Given the description of an element on the screen output the (x, y) to click on. 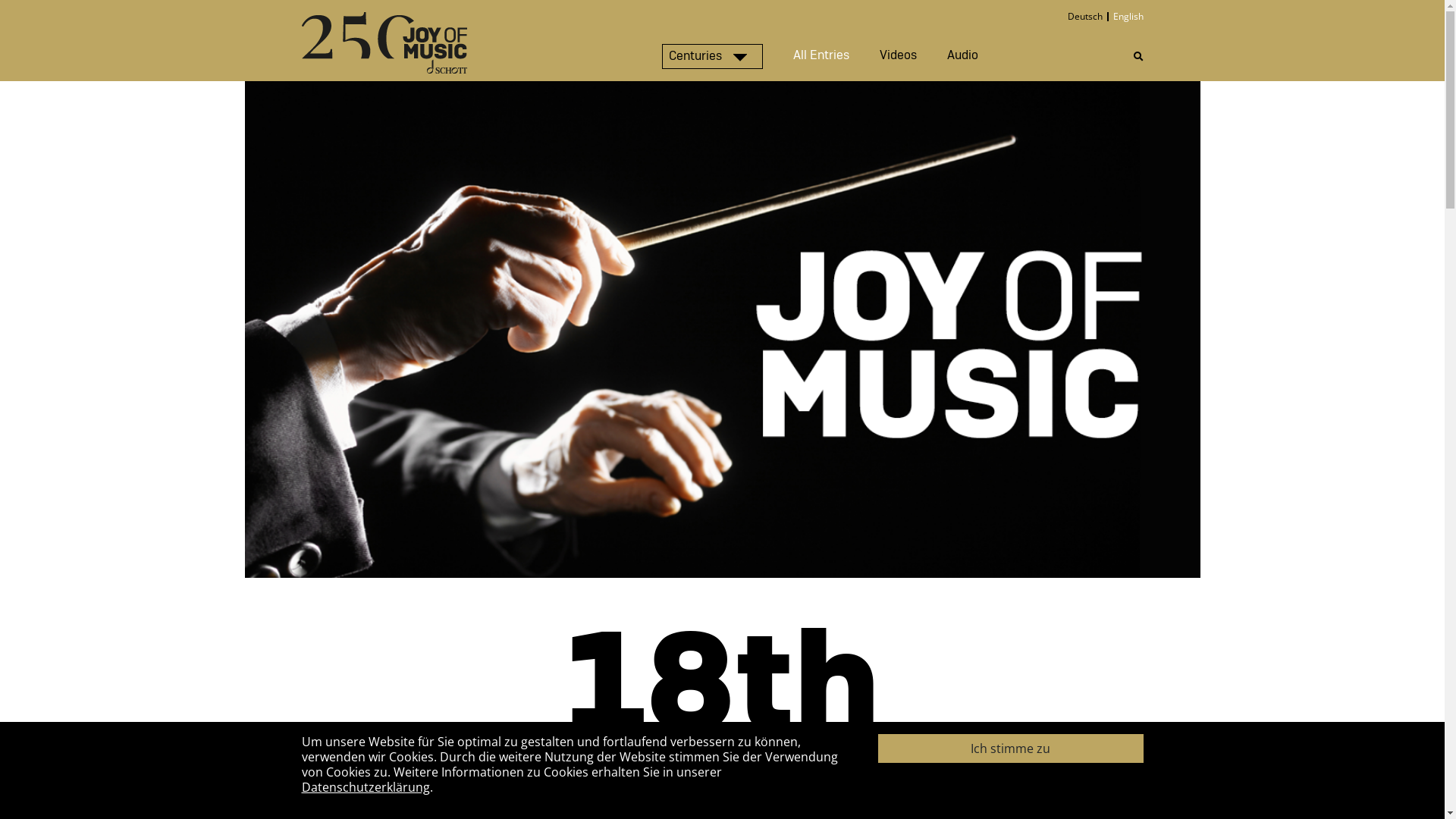
Centuries Element type: text (711, 56)
Audio Element type: text (961, 55)
Ich stimme zu Element type: text (1010, 748)
Privacy Policy Element type: text (1104, 800)
Deutsch Element type: text (1087, 15)
Videos Element type: text (897, 55)
English Element type: text (1125, 15)
Legal Notice Element type: text (1017, 800)
All Entries Element type: text (821, 55)
www.schott-music.com Element type: text (903, 800)
